Given the description of an element on the screen output the (x, y) to click on. 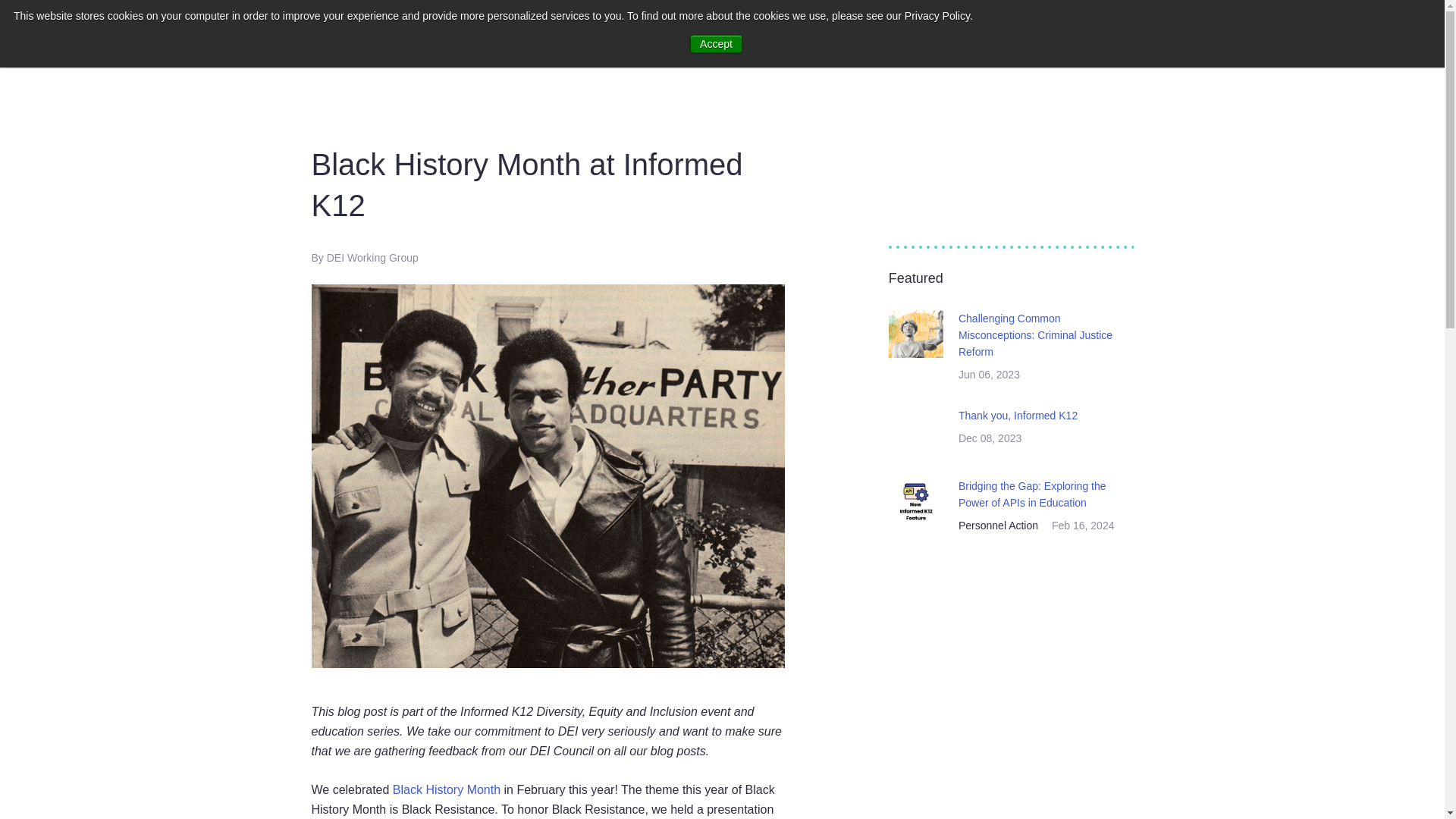
Product (422, 34)
LOG IN (1383, 32)
Resources (508, 34)
Black History Month (446, 789)
SUPPORT (1318, 32)
Challenging Common Misconceptions: Criminal Justice Reform (1038, 335)
Personnel Action (1003, 525)
Demo (589, 34)
logo (98, 31)
Thank you, Informed K12 (1038, 415)
Bridging the Gap: Exploring the Power of APIs in Education (1038, 494)
Customers (336, 34)
DEI Working Group (372, 257)
Accept (716, 44)
Careers (662, 34)
